Given the description of an element on the screen output the (x, y) to click on. 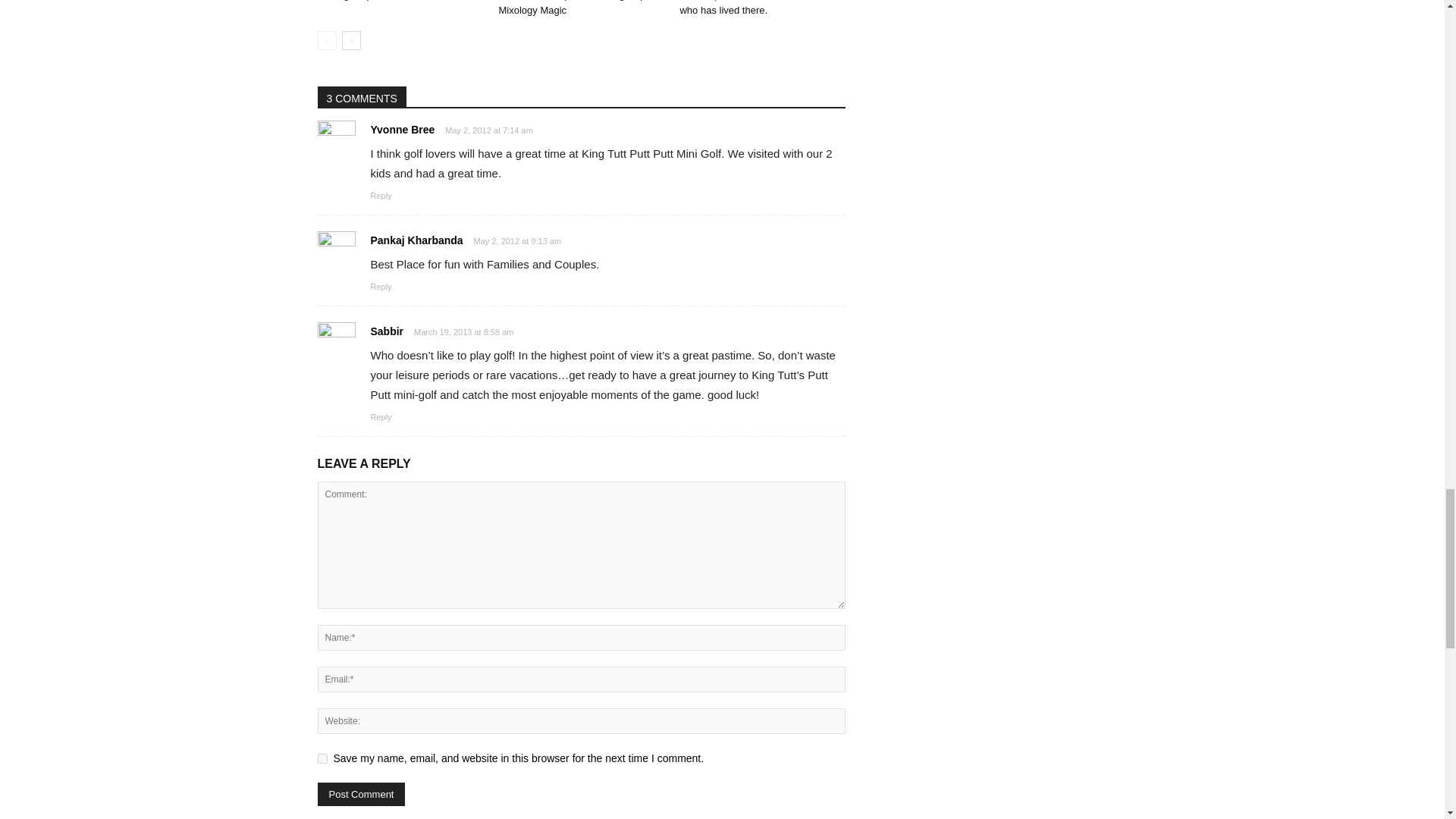
yes (321, 758)
Post Comment (360, 793)
